Given the description of an element on the screen output the (x, y) to click on. 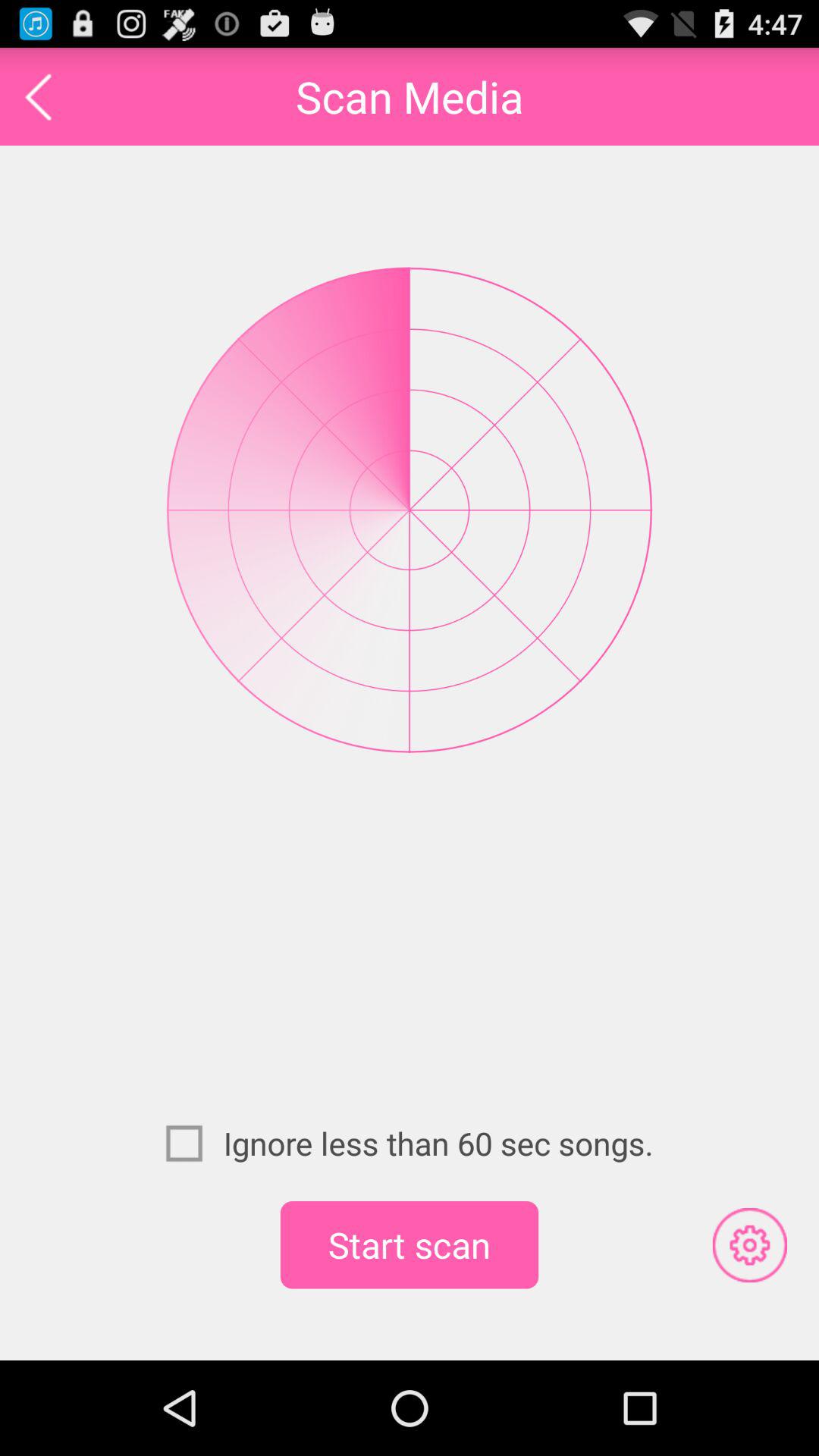
select icon next to the ignore less than (193, 1142)
